Given the description of an element on the screen output the (x, y) to click on. 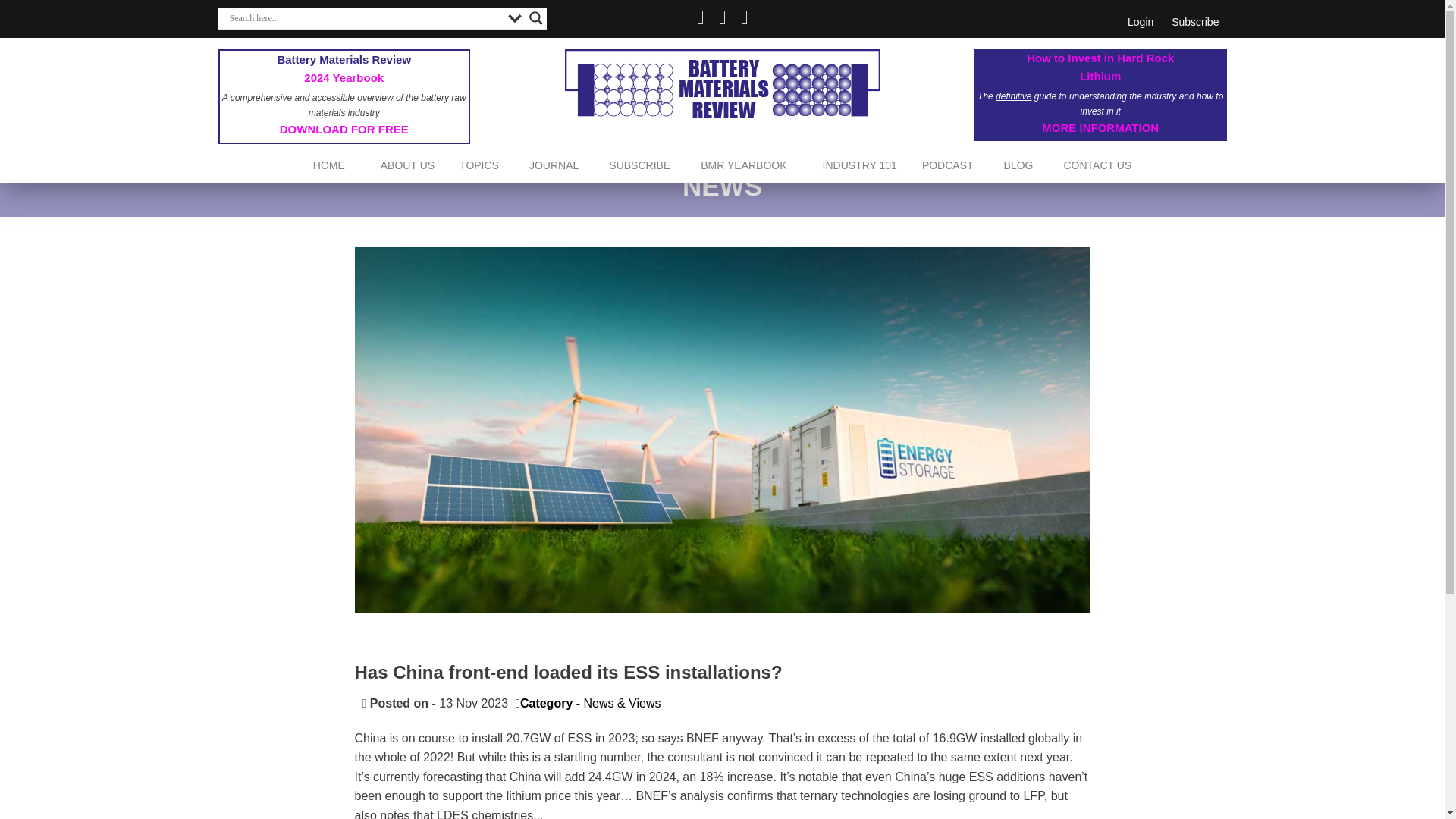
ABOUT US (407, 165)
INDUSTRY 101 (860, 165)
Login (1139, 21)
CONTACT US (1097, 165)
BLOG (1018, 165)
ABOUT US (407, 165)
PODCAST (947, 165)
HOME (328, 165)
SUBSCRIBE (639, 165)
BLOG (1018, 165)
